Given the description of an element on the screen output the (x, y) to click on. 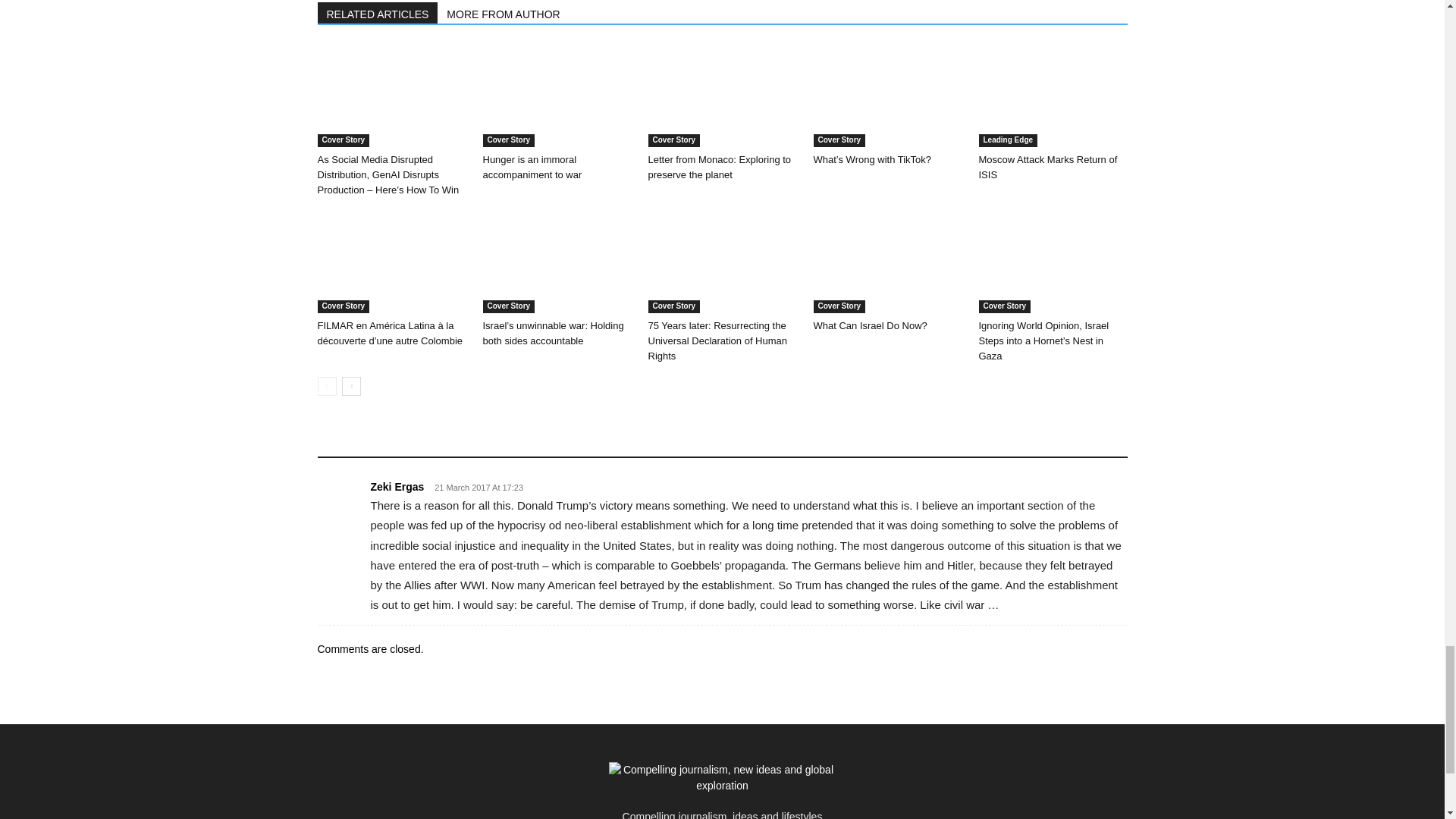
Hunger is an immoral accompaniment to war (530, 166)
Letter from Monaco: Exploring to preserve the planet (721, 96)
Hunger is an immoral accompaniment to war (555, 96)
Letter from Monaco: Exploring to preserve the planet (718, 166)
